Given the description of an element on the screen output the (x, y) to click on. 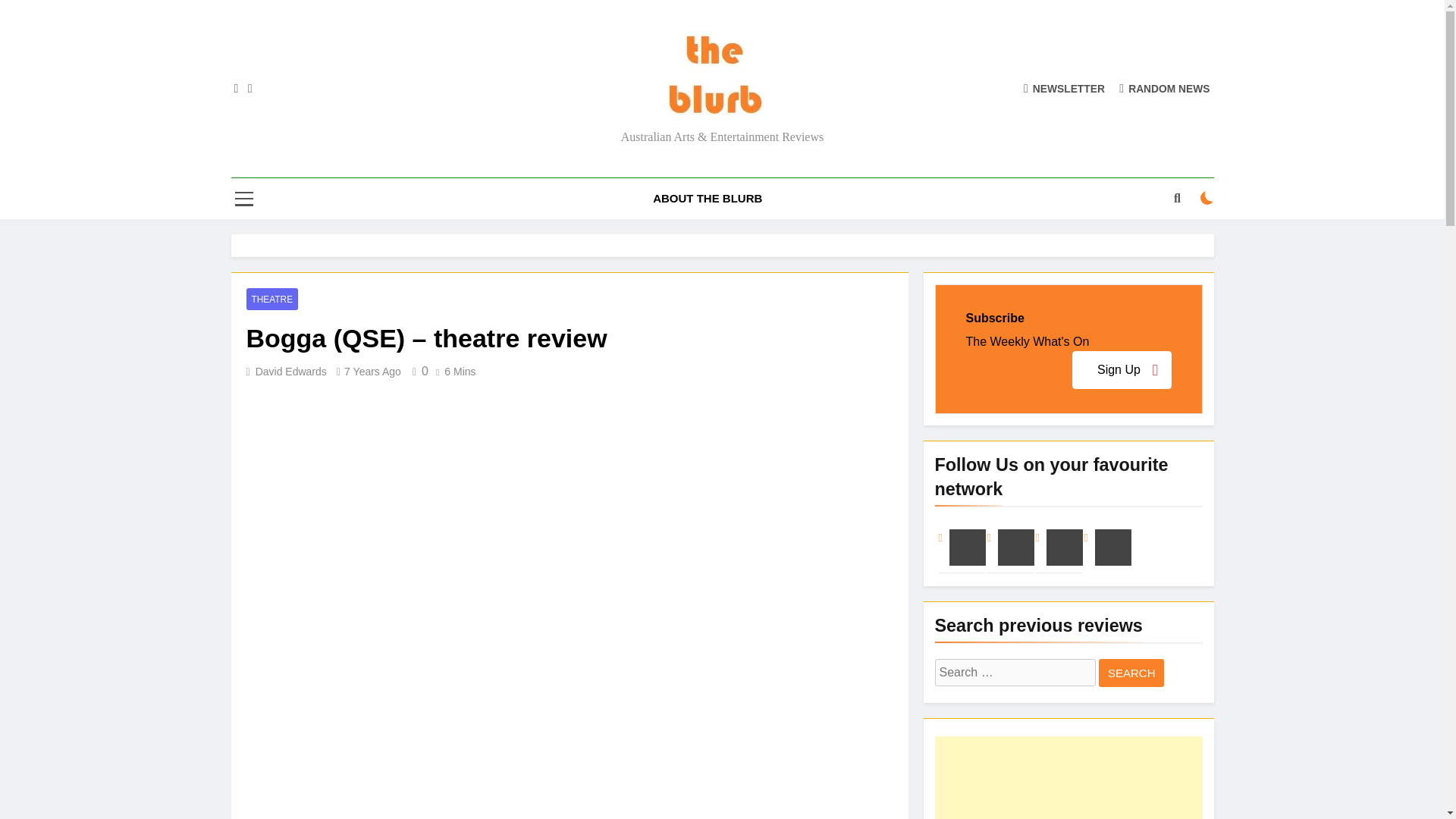
Search (1131, 673)
NEWSLETTER (1064, 88)
Search (1131, 673)
ABOUT THE BLURB (707, 198)
on (1206, 197)
RANDOM NEWS (1164, 88)
